Given the description of an element on the screen output the (x, y) to click on. 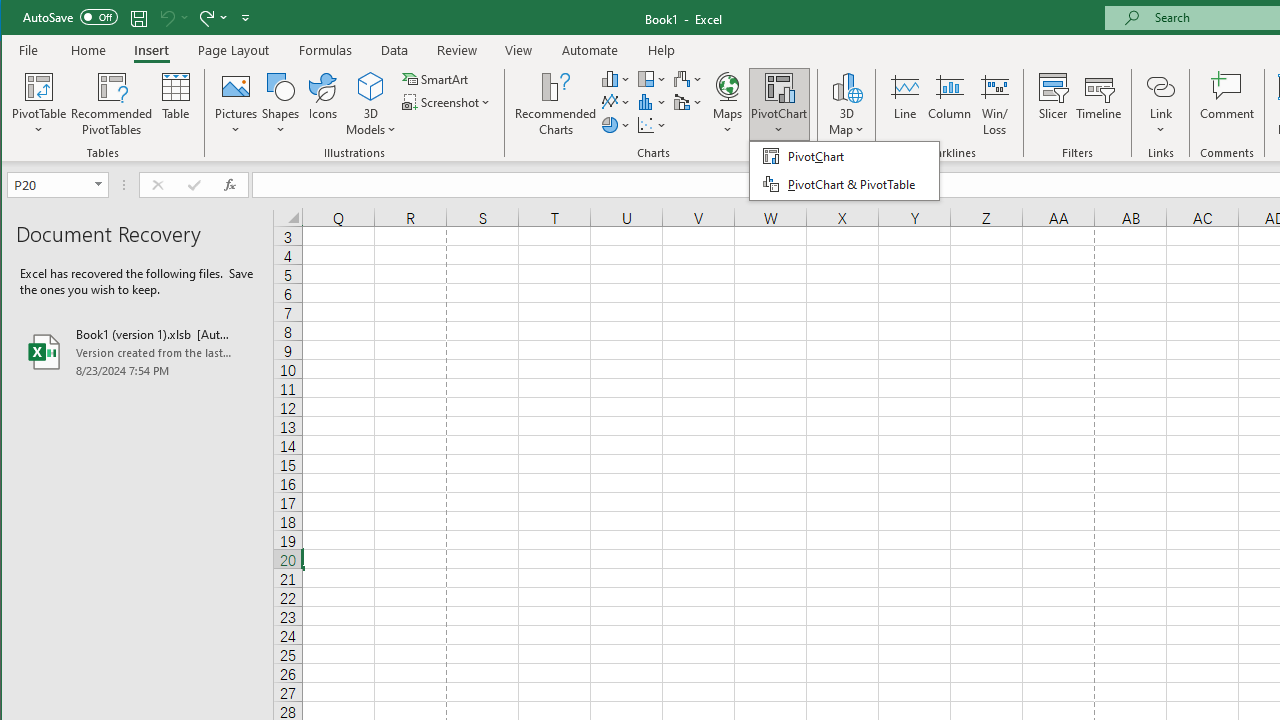
SmartArt... (436, 78)
PivotTable (39, 86)
Table (175, 104)
Insert Column or Bar Chart (616, 78)
3D Map (846, 104)
